Given the description of an element on the screen output the (x, y) to click on. 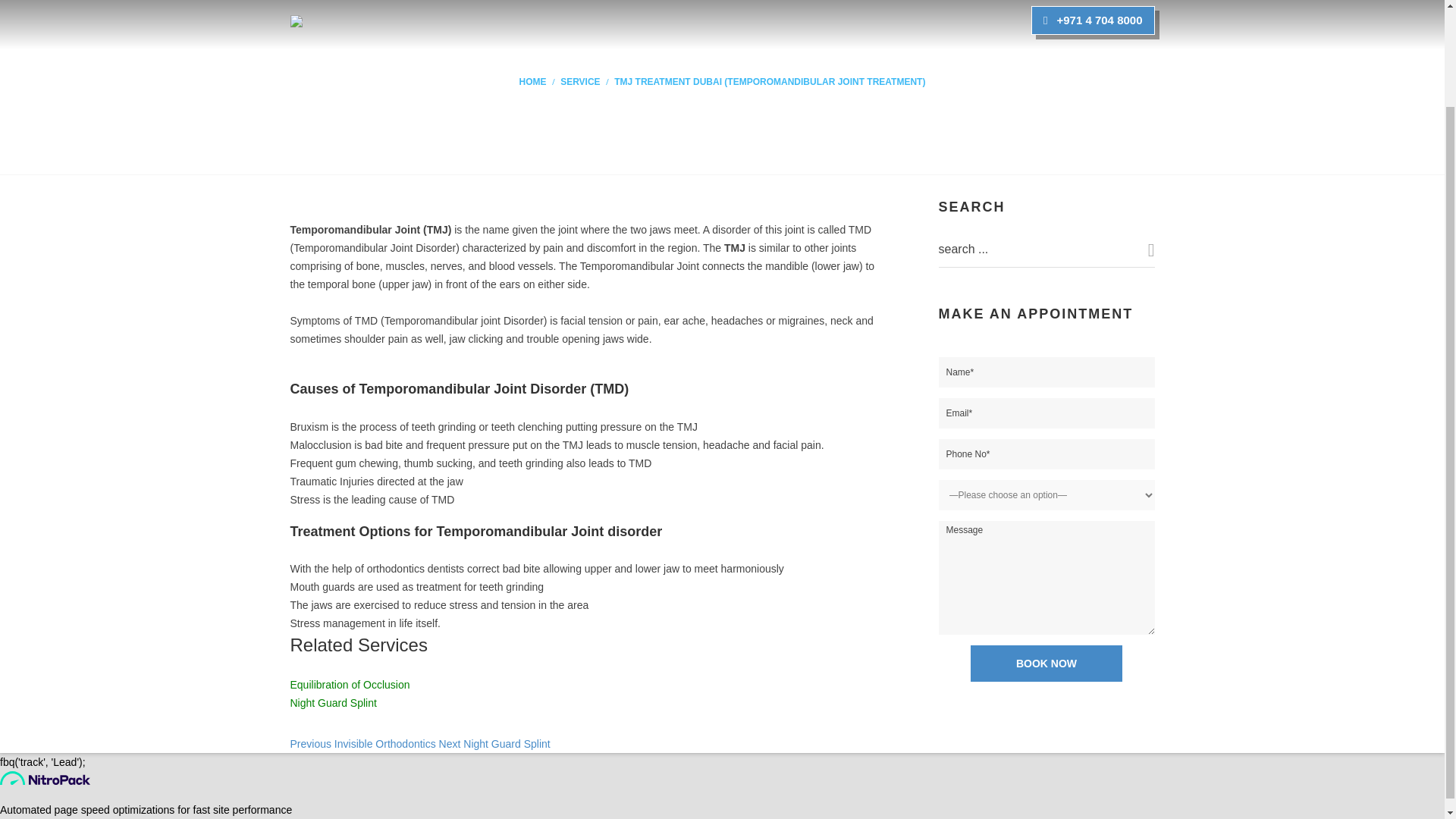
HOME (533, 81)
Book Now (1046, 663)
SERVICE (579, 81)
